Given the description of an element on the screen output the (x, y) to click on. 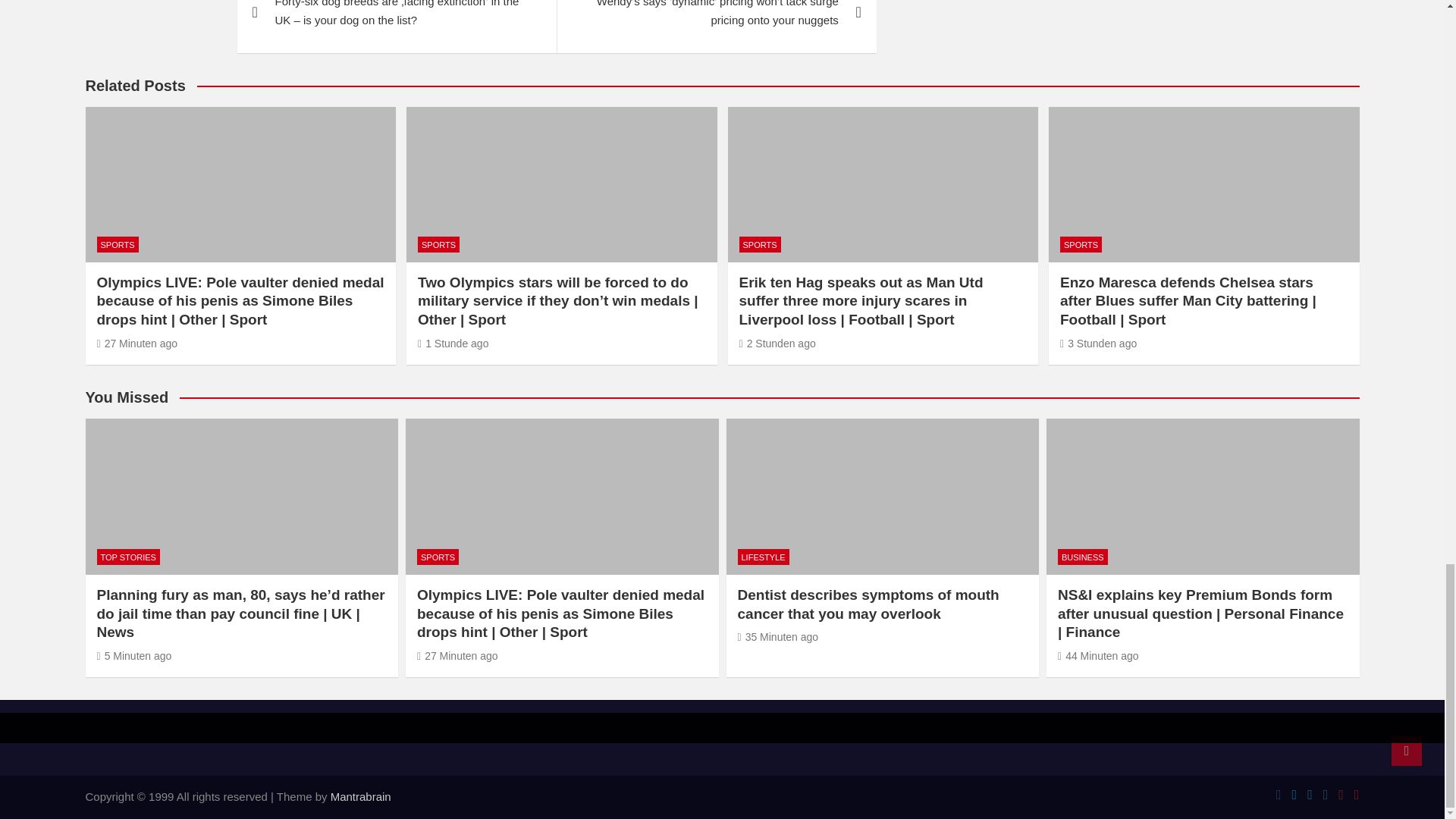
Mantrabrain (360, 796)
